Given the description of an element on the screen output the (x, y) to click on. 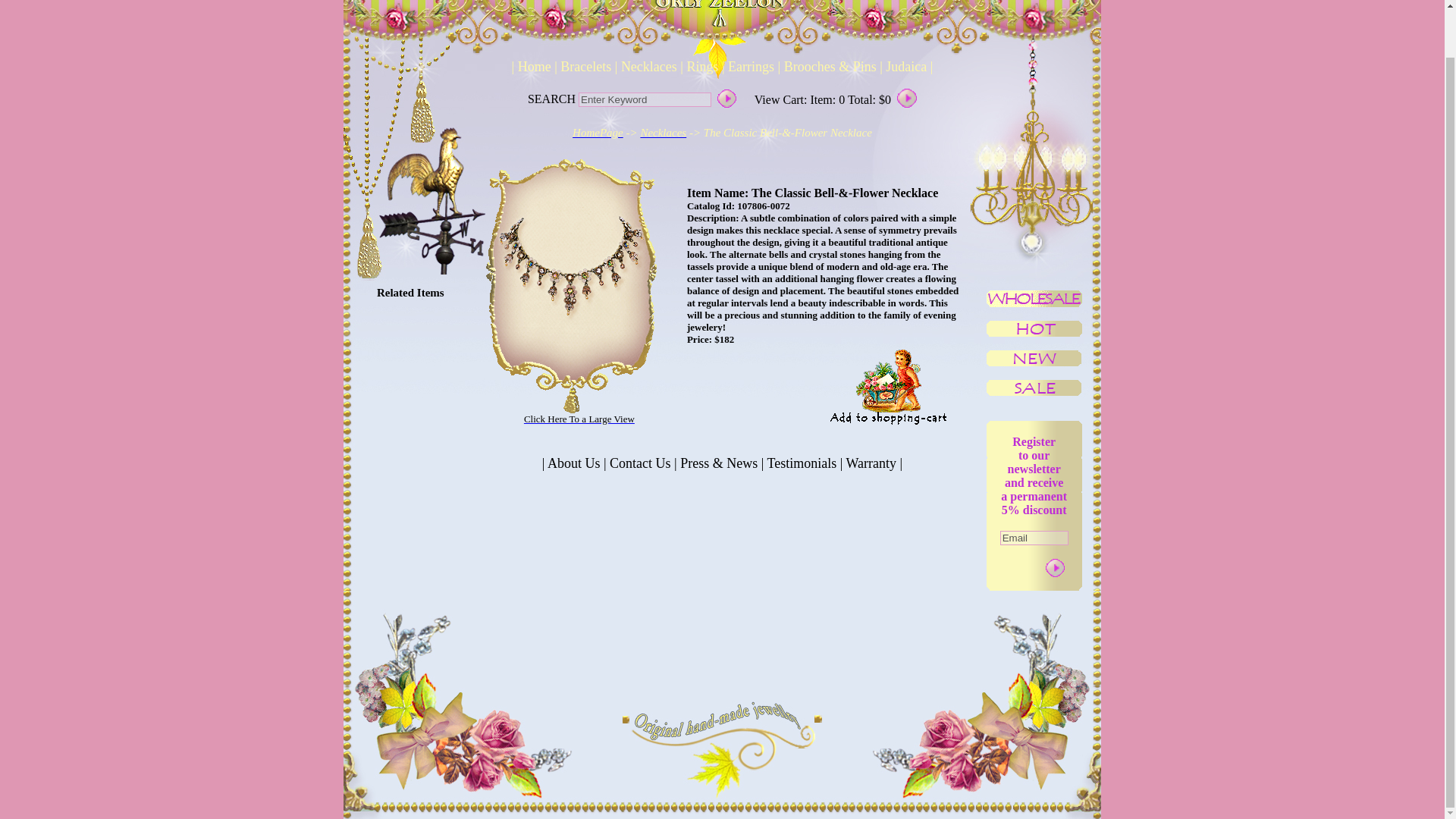
Judaica (906, 66)
HomePage (597, 132)
Testimonials (801, 462)
Warranty (871, 462)
Necklaces (662, 132)
Home (533, 66)
About Us (574, 462)
Necklaces (648, 66)
Email (1034, 536)
Rings (702, 66)
Contact Us (641, 462)
Earrings (749, 66)
Click Here To a Large View (579, 418)
Bracelets (585, 66)
Enter Keyword (644, 99)
